Given the description of an element on the screen output the (x, y) to click on. 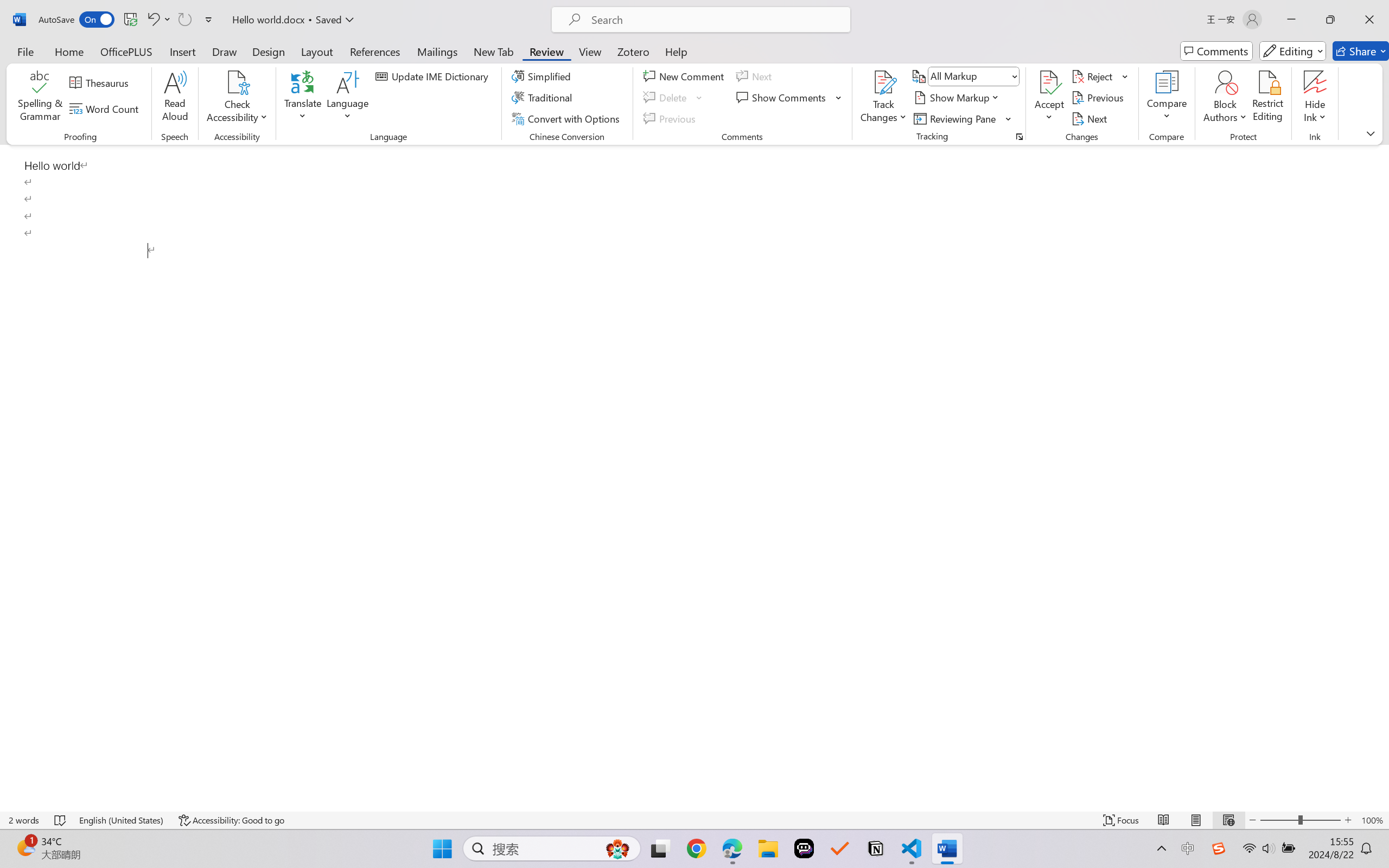
Draw (224, 51)
Reviewing Pane (962, 118)
Zoom (1300, 819)
Hide Ink (1315, 81)
Focus  (1121, 819)
Spelling and Grammar Check No Errors (60, 819)
Spelling & Grammar (39, 97)
Language English (United States) (121, 819)
Compare (1166, 97)
Help (675, 51)
Convert with Options... (567, 118)
Track Changes (883, 81)
Restrict Editing (1267, 97)
Close (1369, 19)
Read Mode (1163, 819)
